Given the description of an element on the screen output the (x, y) to click on. 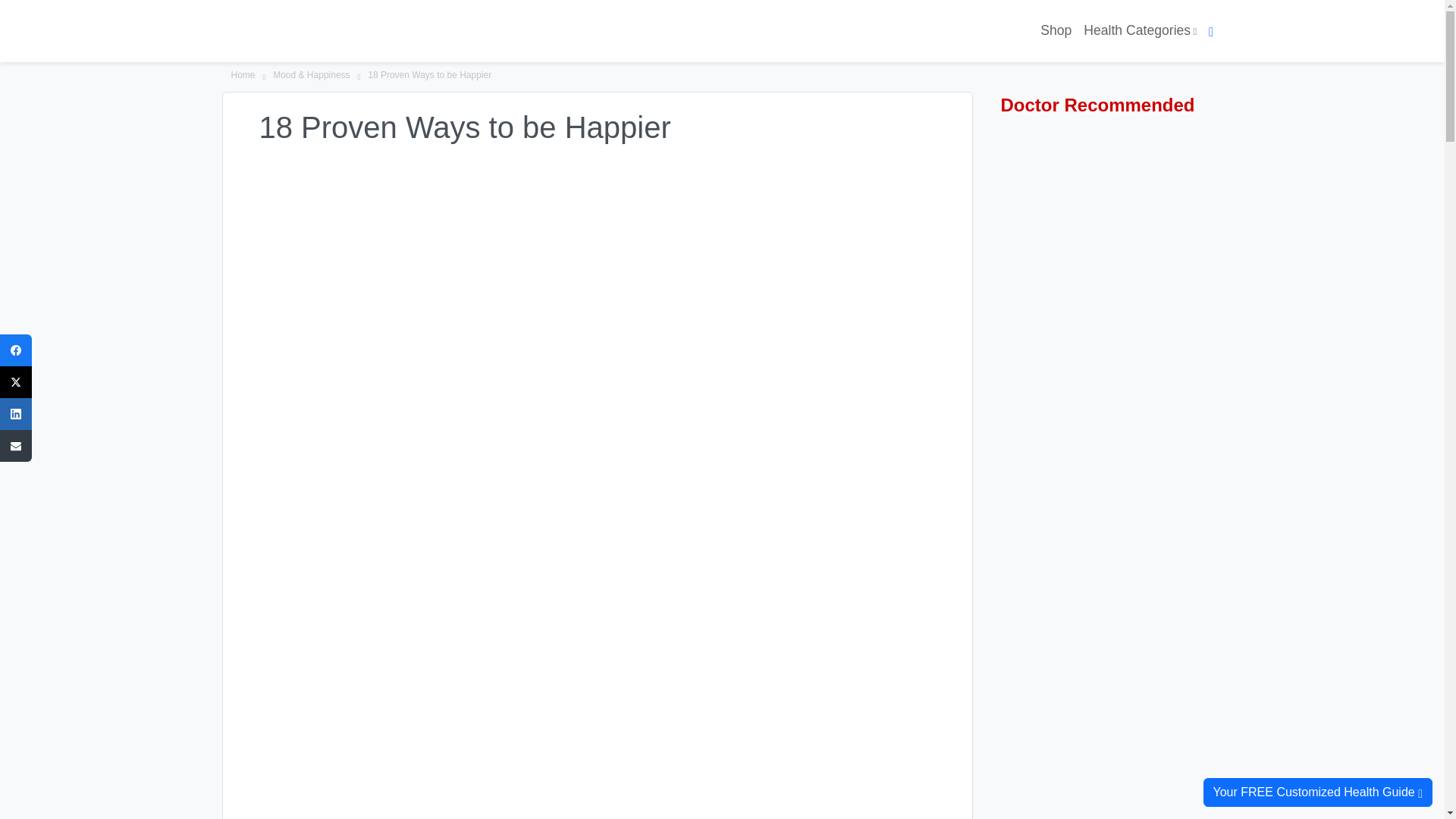
Your FREE Customized Health Guide (1317, 792)
Home (242, 76)
Shop (1055, 31)
Health Categories (1139, 31)
